Given the description of an element on the screen output the (x, y) to click on. 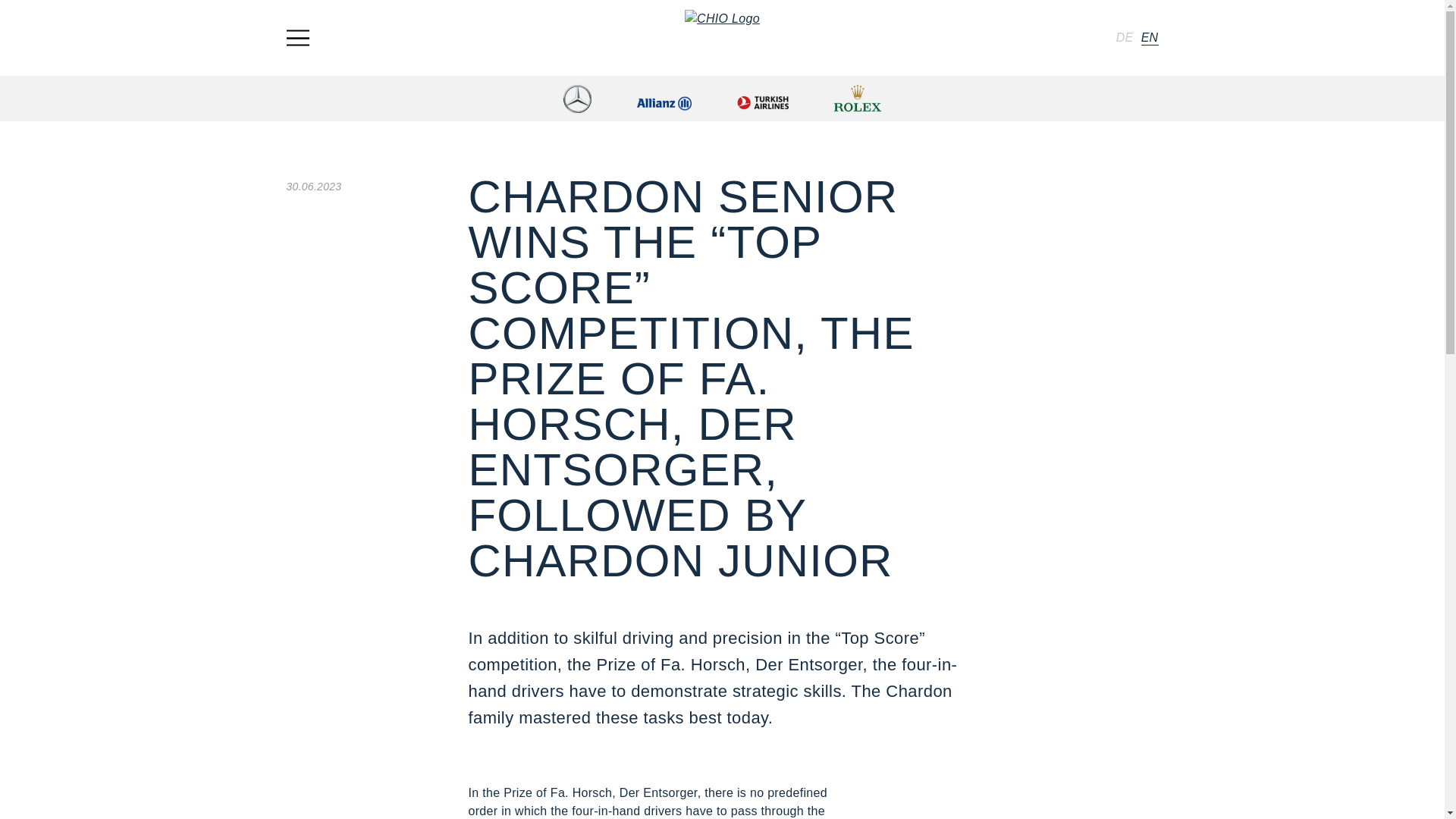
EN (1149, 37)
en (1149, 37)
DE (1125, 37)
Homepage (722, 37)
de (1125, 37)
